Given the description of an element on the screen output the (x, y) to click on. 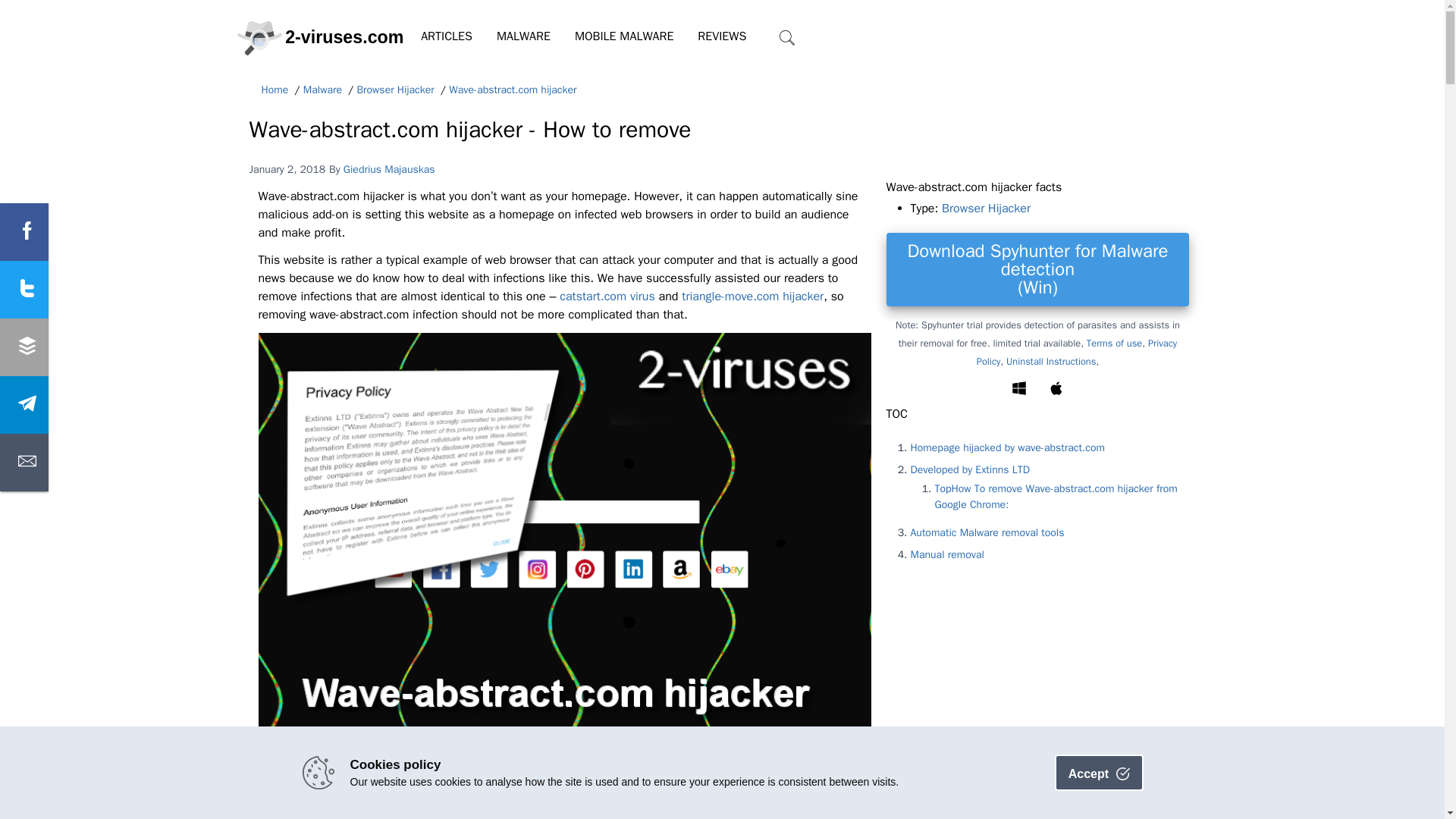
ARTICLES (446, 36)
Privacy Policy (1076, 351)
Terms of use (1113, 342)
Browser Hijacker (394, 90)
REVIEWS (721, 36)
triangle-move.com hijacker (752, 295)
Uninstall Instructions (1051, 360)
Browser Hijacker (986, 207)
MALWARE (523, 36)
MOBILE MALWARE (623, 36)
catstart.com virus (607, 295)
Giedrius Majauskas (389, 169)
Malware (322, 90)
Home (274, 90)
Wave-abstract.com hijacker (512, 90)
